Given the description of an element on the screen output the (x, y) to click on. 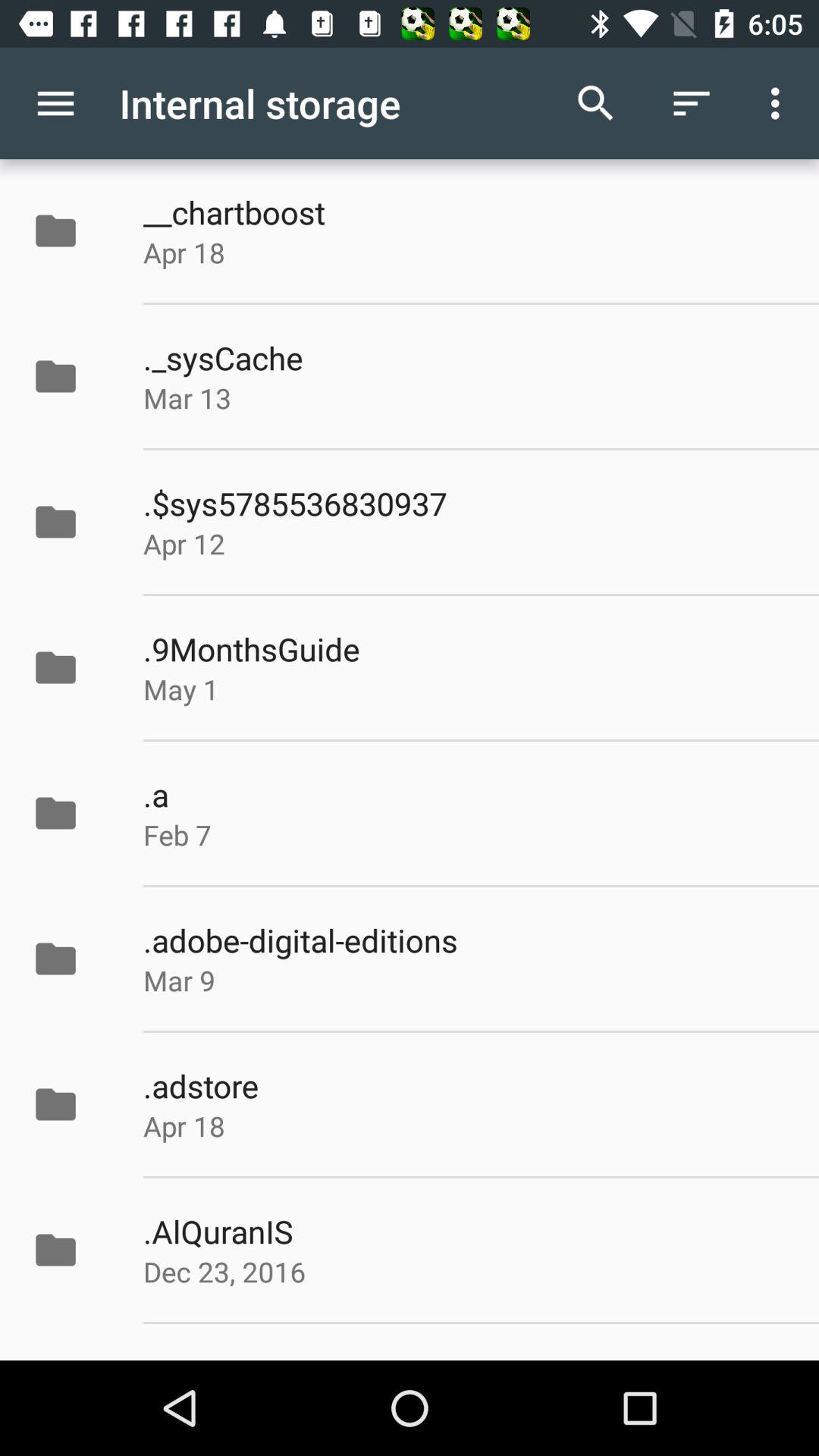
click on the folder image icon to the left of the text 9monthsguide (55, 667)
select a folder icon which is before aiquranis (71, 1249)
go to the icon which is left to the text adstore (71, 1104)
select the symbol which is to the immediate left of feb 7 (71, 813)
